Given the description of an element on the screen output the (x, y) to click on. 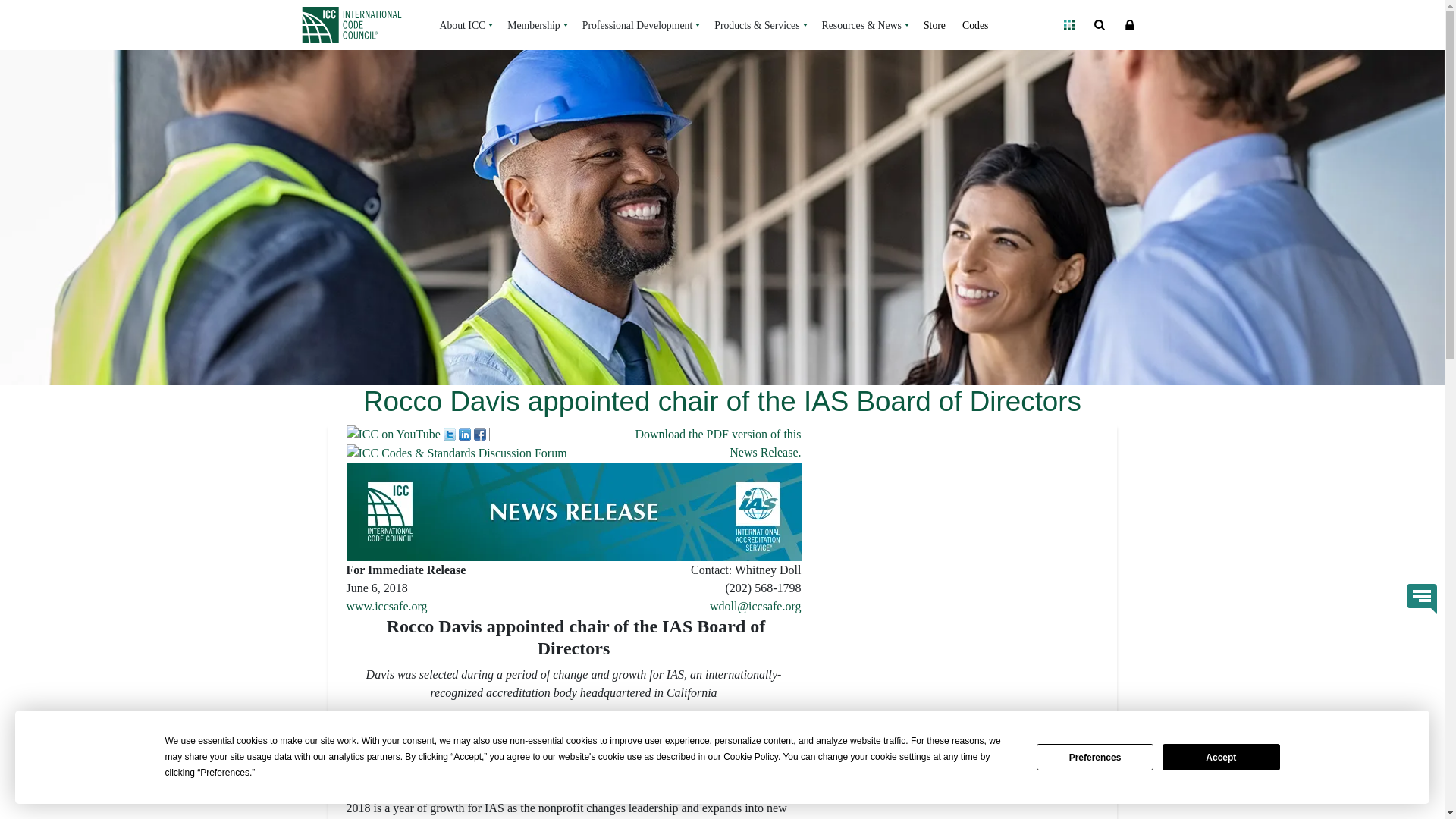
Preferences (1094, 756)
Tweet This (449, 432)
Forward This (392, 432)
Accept (1220, 756)
